Given the description of an element on the screen output the (x, y) to click on. 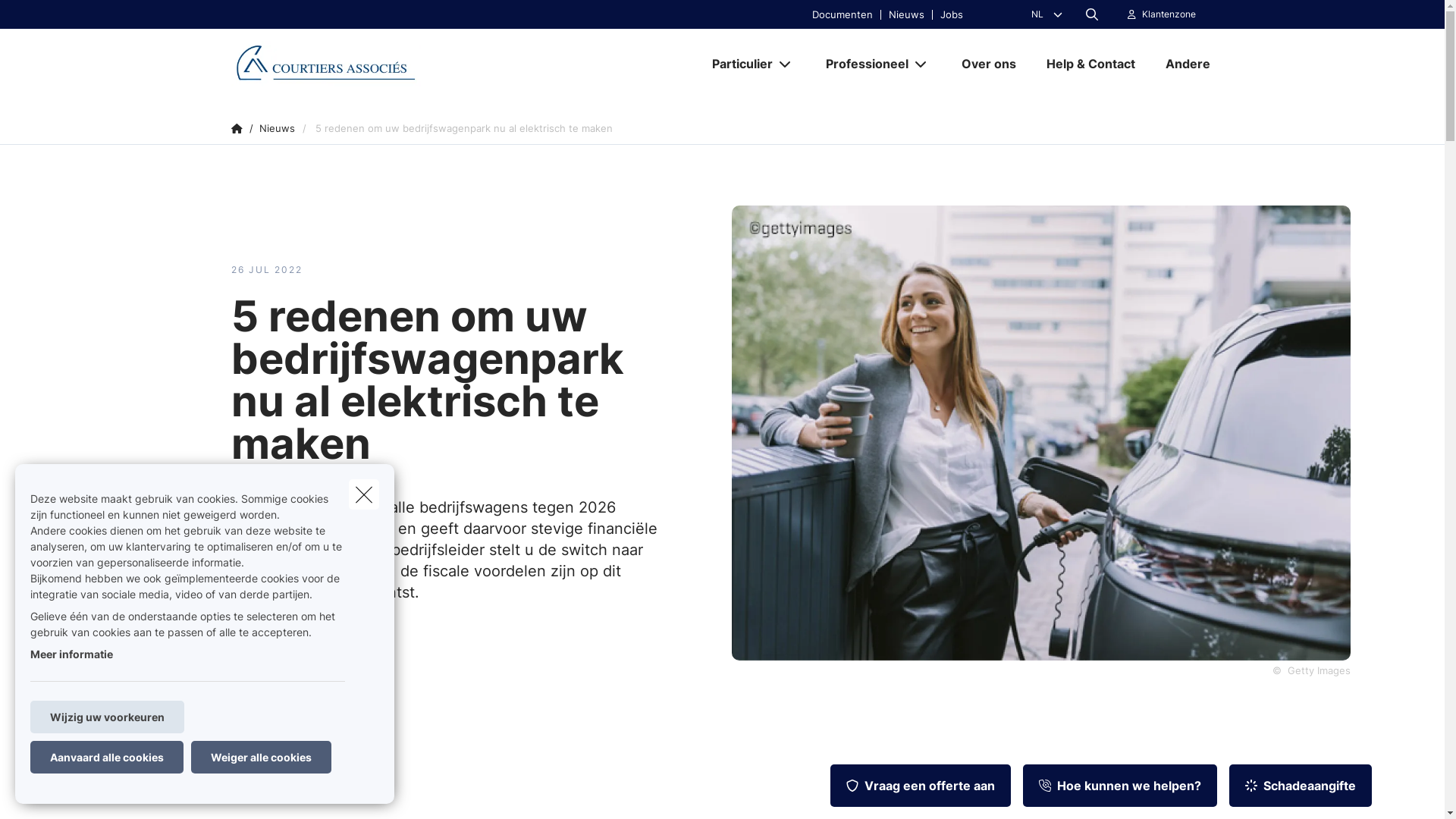
Meer informatie Element type: text (71, 653)
Help & Contact Element type: text (1090, 63)
Hoe kunnen we helpen? Element type: text (1119, 785)
/
Nieuws Element type: text (271, 128)
Jobs Element type: text (950, 13)
Documenten Element type: text (842, 13)
Weiger alle cookies Element type: text (261, 756)
Klantenzone Element type: text (1161, 14)
Zoeken Element type: text (42, 18)
Andere Element type: text (1181, 63)
Nieuws Element type: text (905, 13)
Vraag een offerte aan Element type: text (920, 785)
Particulier Element type: text (735, 63)
Over ons Element type: text (988, 63)
Professioneel Element type: text (860, 63)
Schadeaangifte Element type: text (1300, 785)
Aanvaard alle cookies Element type: text (106, 756)
Klantenzone Element type: text (1168, 14)
Wijzig uw voorkeuren Element type: text (107, 716)
